Given the description of an element on the screen output the (x, y) to click on. 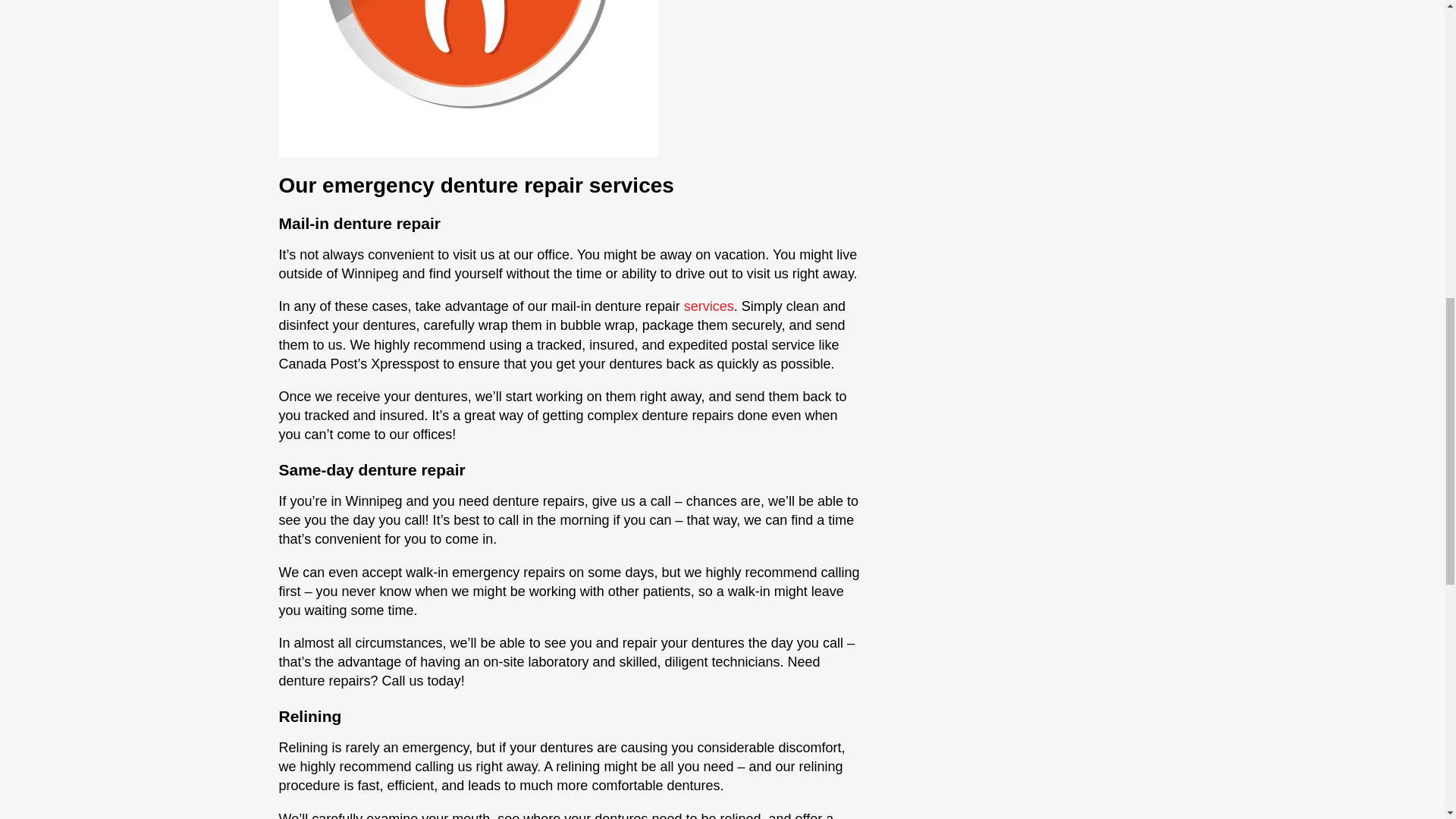
services (708, 305)
